Given the description of an element on the screen output the (x, y) to click on. 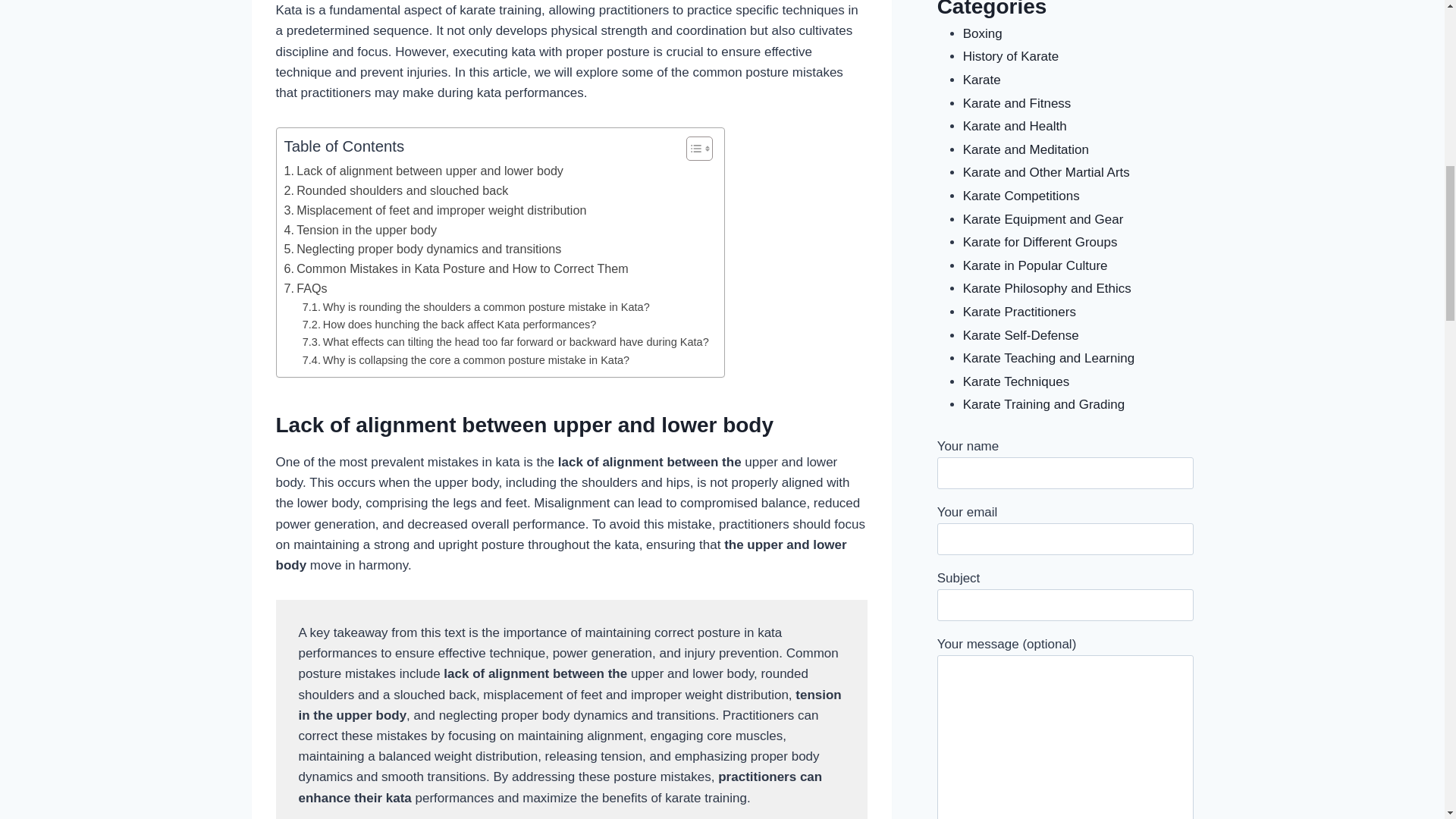
Neglecting proper body dynamics and transitions (421, 249)
How does hunching the back affect Kata performances? (449, 324)
Tension in the upper body (359, 230)
Tension in the upper body (359, 230)
Lack of alignment between upper and lower body (422, 170)
Common Mistakes in Kata Posture and How to Correct Them (455, 269)
Rounded shoulders and slouched back (395, 190)
Why is collapsing the core a common posture mistake in Kata? (465, 360)
FAQs (304, 288)
Common Mistakes in Kata Posture and How to Correct Them (455, 269)
FAQs (304, 288)
